Given the description of an element on the screen output the (x, y) to click on. 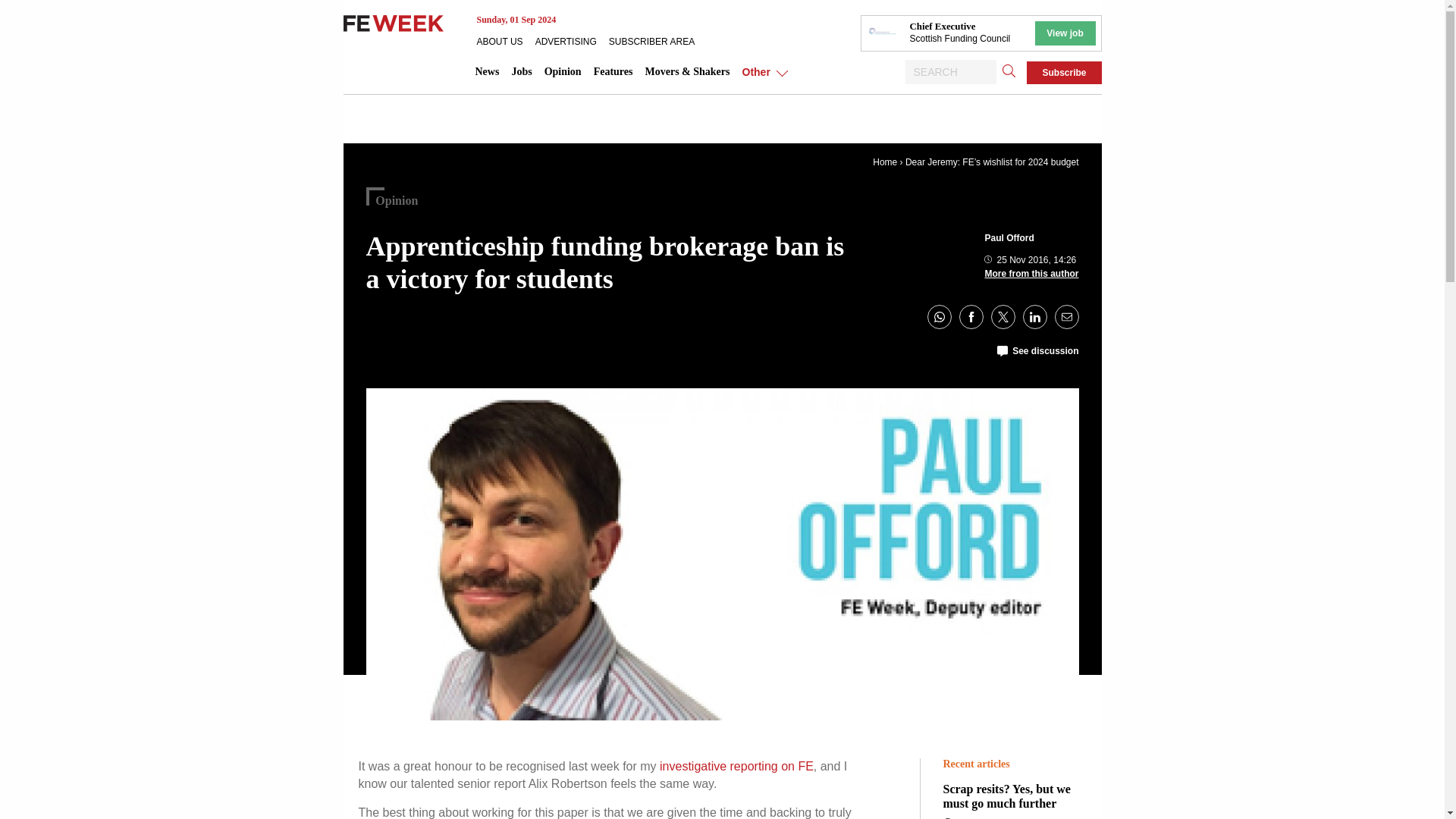
ABOUT US (505, 41)
Home (884, 162)
ADVERTISING (571, 41)
Posts by Paul Offord (1008, 237)
SUBSCRIBER AREA (657, 41)
News (486, 71)
View job (1063, 33)
